Given the description of an element on the screen output the (x, y) to click on. 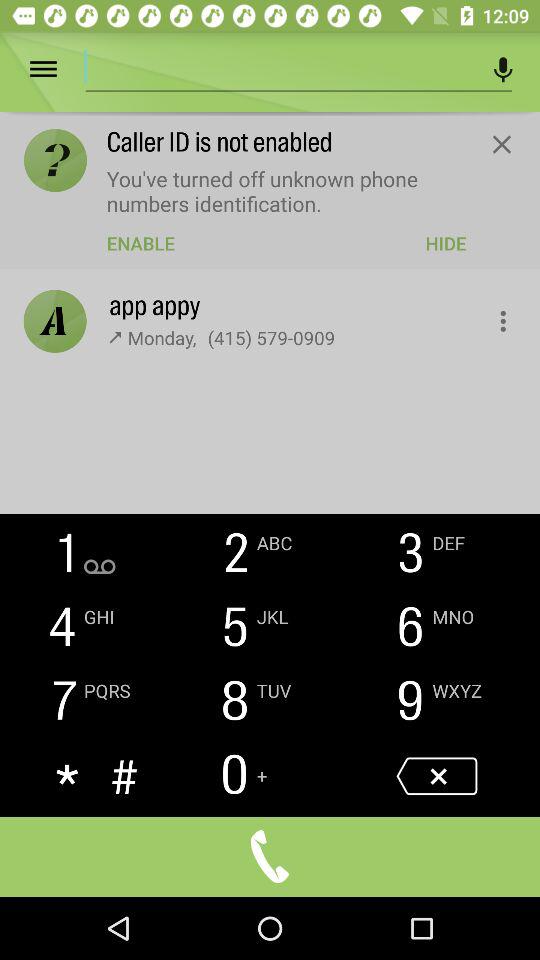
show more options (492, 315)
